Given the description of an element on the screen output the (x, y) to click on. 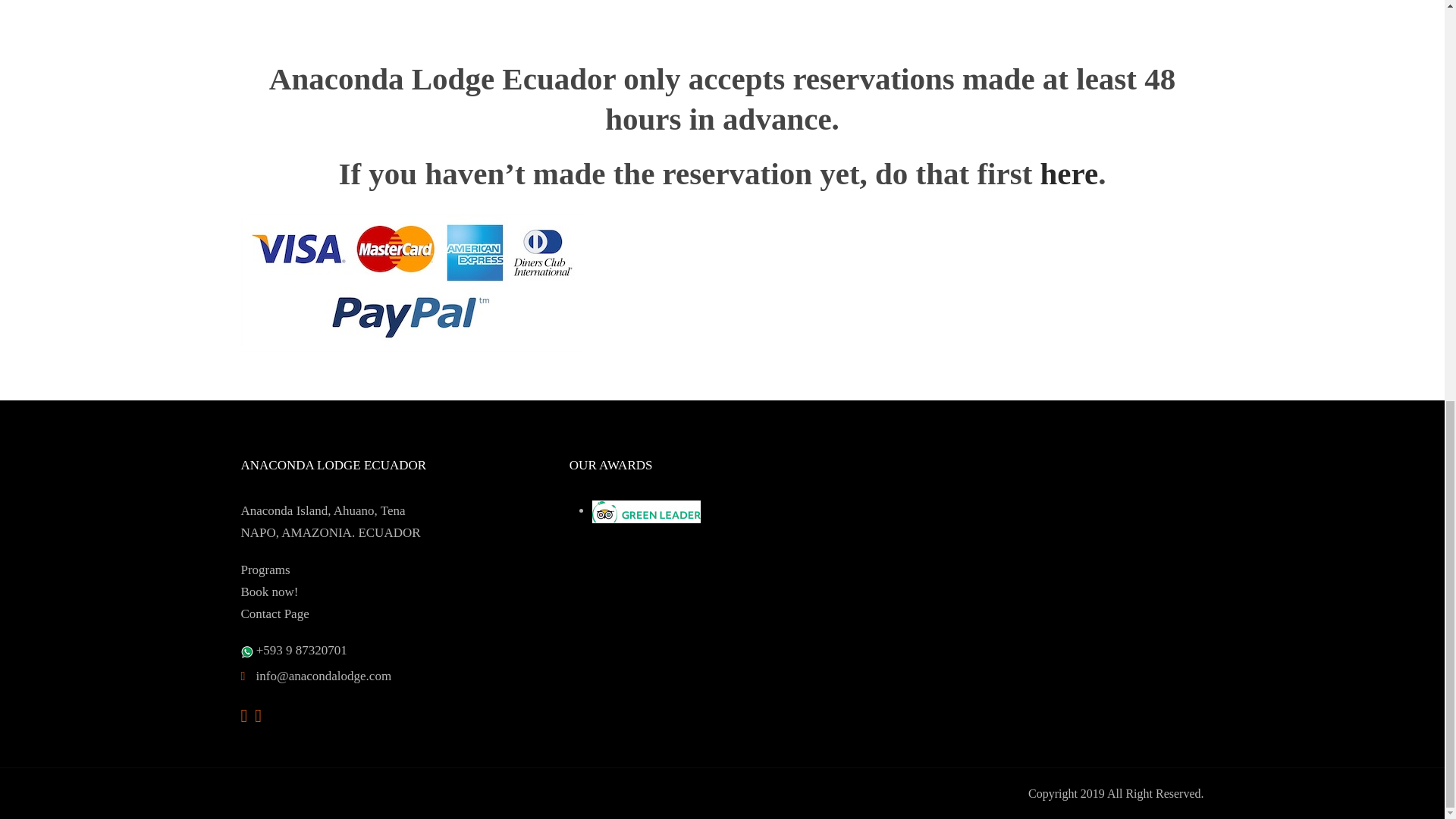
WhatsApp (247, 652)
